Given the description of an element on the screen output the (x, y) to click on. 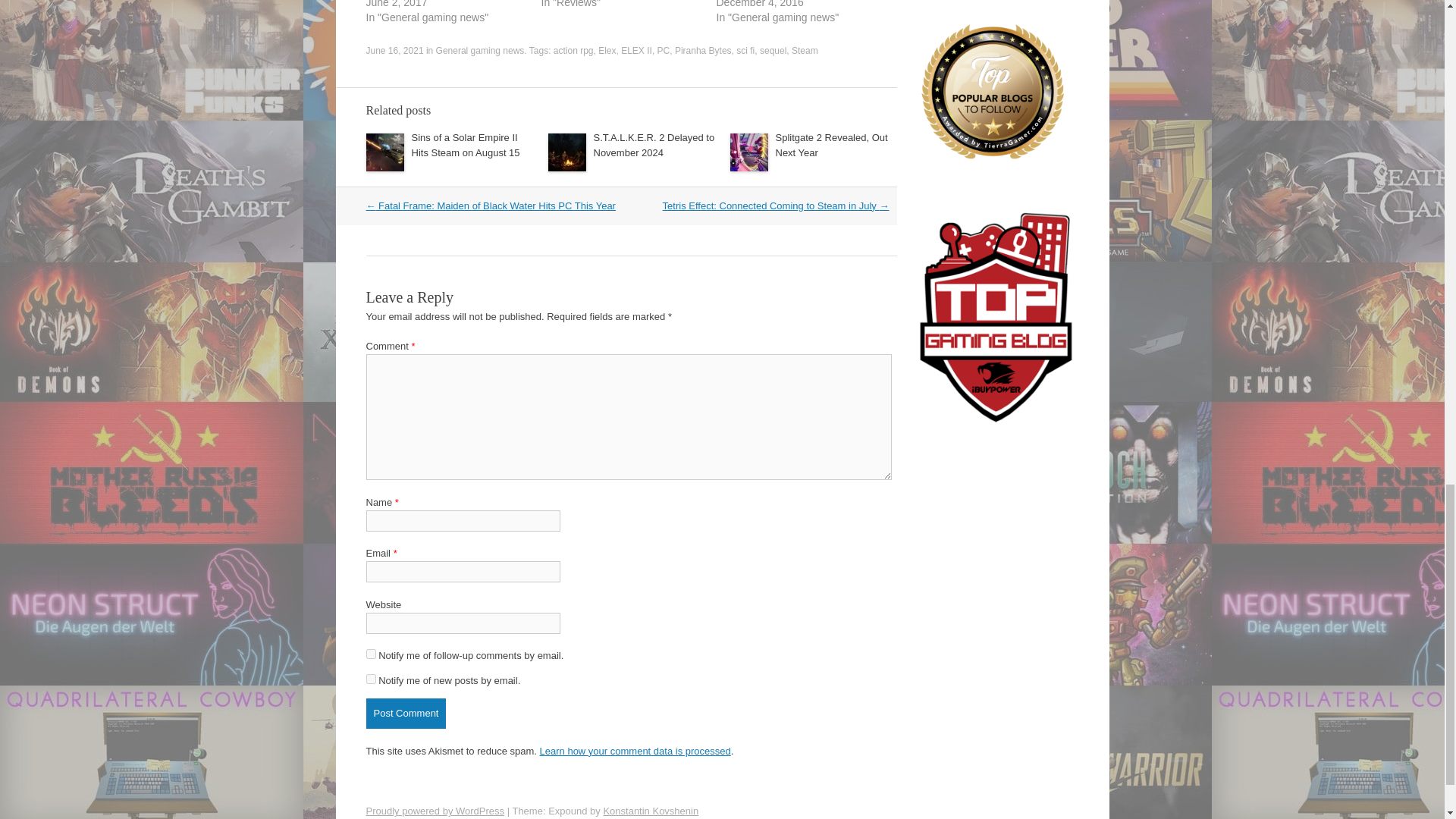
Splitgate 2 Revealed, Out Next Year (830, 144)
Sins of a Solar Empire II Hits Steam on August 15 (464, 144)
subscribe (370, 678)
Steam (805, 50)
Post Comment (405, 713)
Elex (606, 50)
General gaming news (479, 50)
Permalink to S.T.A.L.K.E.R. 2 Delayed to November 2024 (653, 144)
subscribe (370, 654)
